Given the description of an element on the screen output the (x, y) to click on. 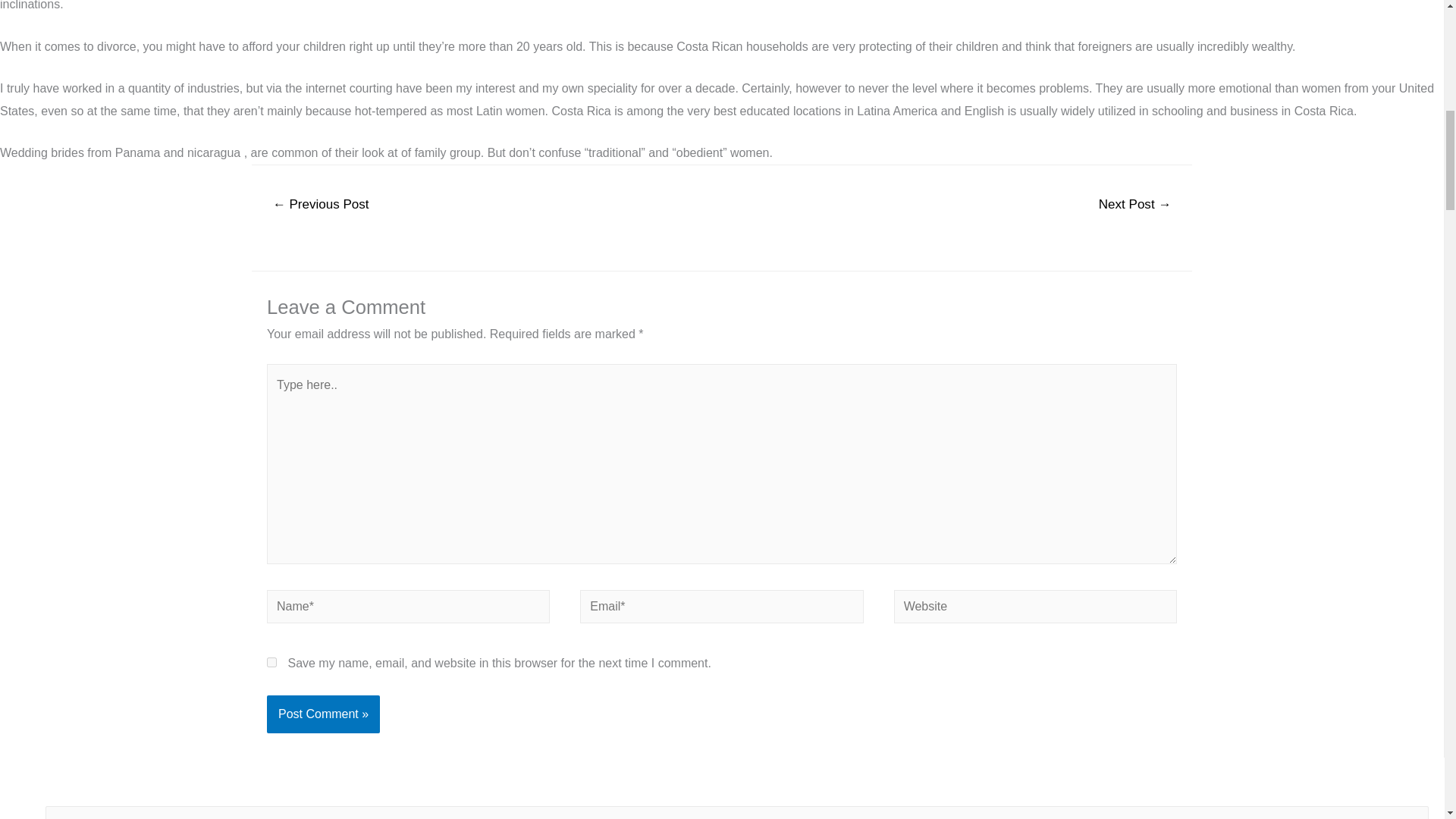
Search (1411, 812)
yes (271, 661)
Search (1411, 812)
